Given the description of an element on the screen output the (x, y) to click on. 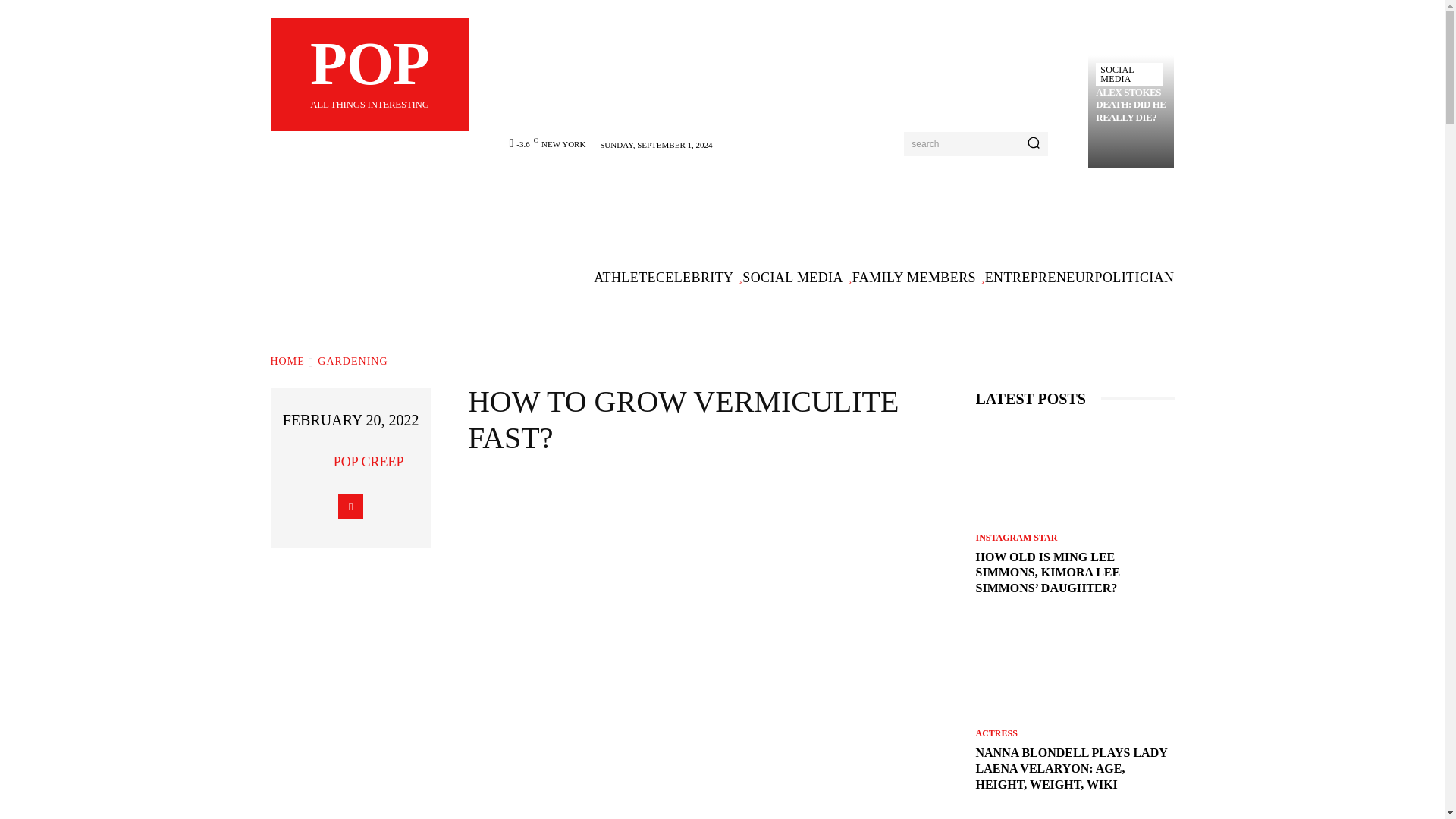
Pop Creep (314, 461)
ALEX STOKES DEATH: DID HE REALLY DIE? (1131, 104)
SOCIAL MEDIA (1128, 74)
Alex Stokes Death: Did He Really Die? (1131, 104)
View all posts in Gardening (368, 74)
